Given the description of an element on the screen output the (x, y) to click on. 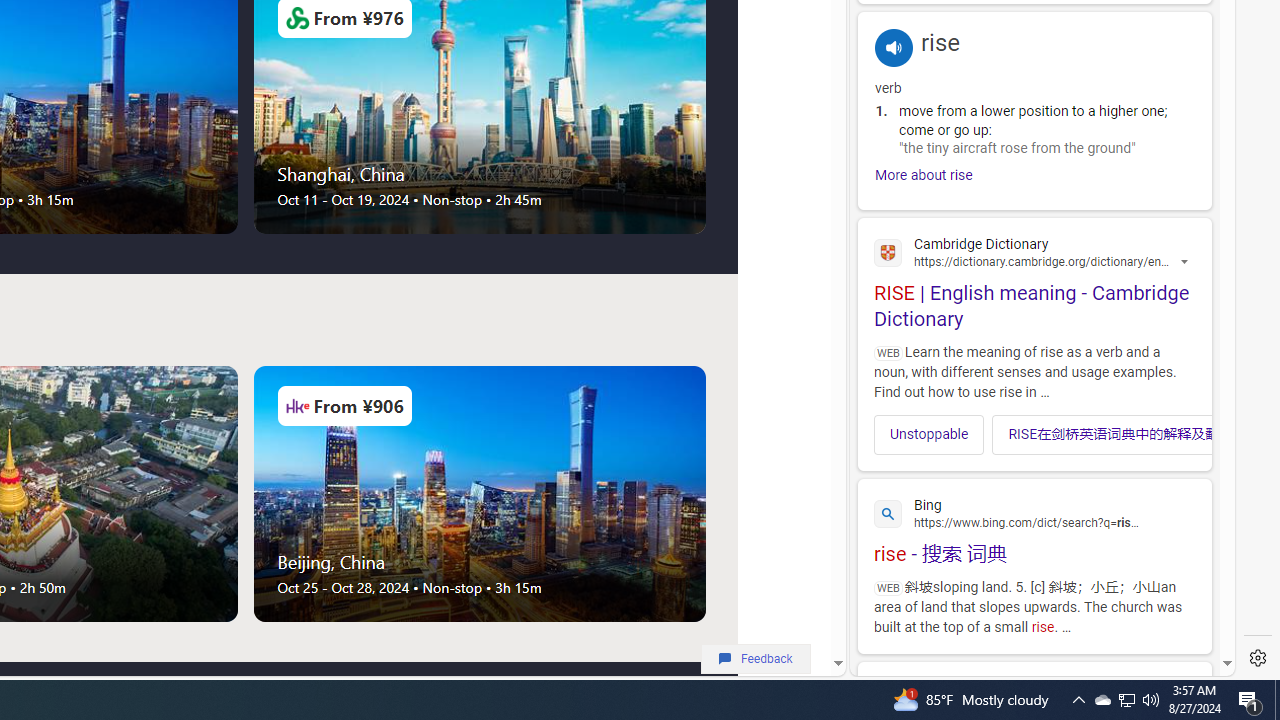
RISE | English meaning - Cambridge Dictionary (1034, 279)
Unstoppable (929, 434)
pronounce (893, 47)
More about rise (923, 175)
Unstoppable (928, 433)
